Given the description of an element on the screen output the (x, y) to click on. 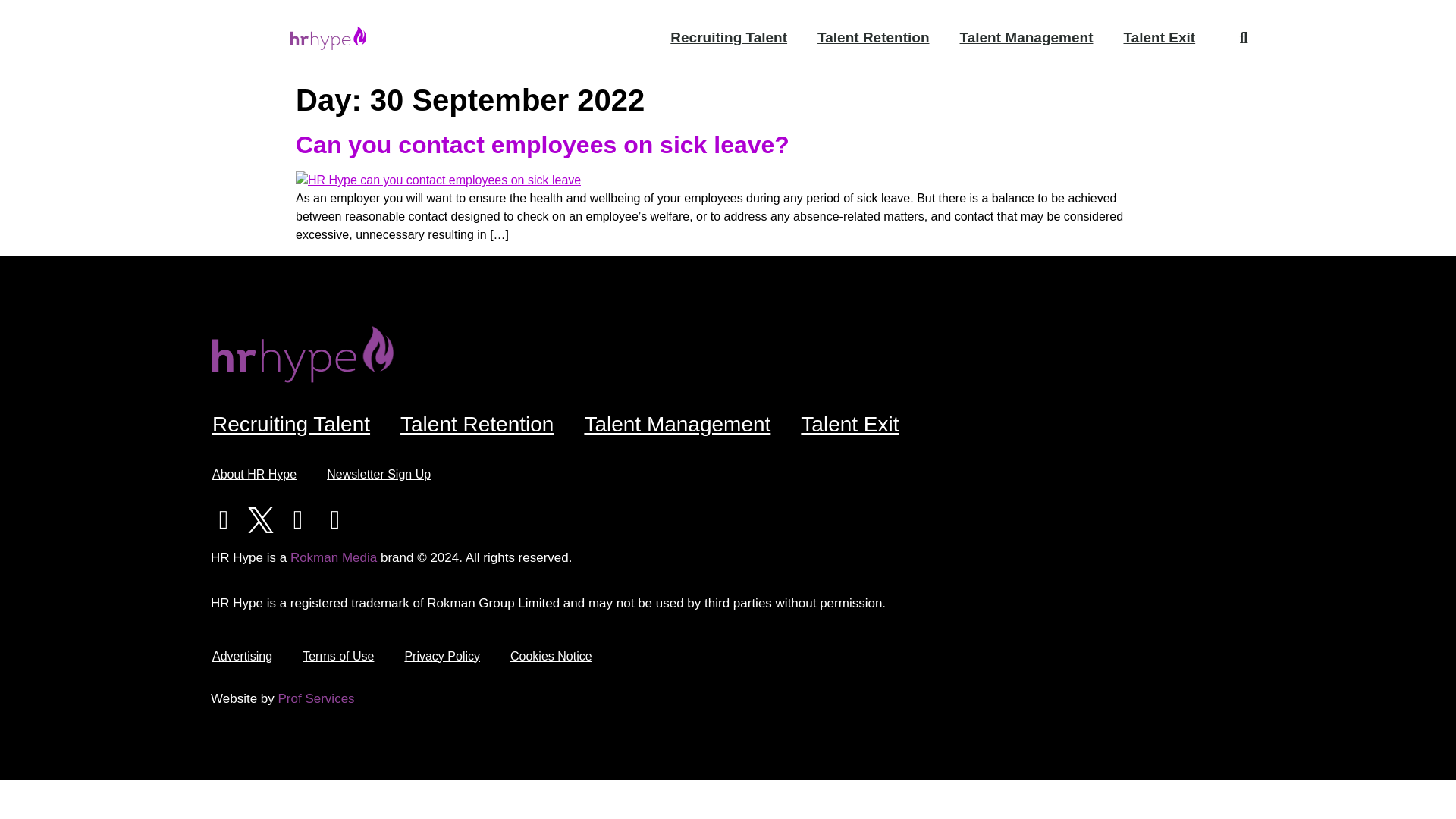
Advertising (241, 656)
About HR Hype (253, 474)
Talent Retention (477, 424)
Rokman Media (333, 557)
Talent Exit (1158, 38)
Recruiting Talent (728, 38)
Cookies Notice (551, 656)
Talent Exit (850, 424)
Recruiting Talent (290, 424)
Newsletter Sign Up (378, 474)
Talent Management (1026, 38)
Privacy Policy (441, 656)
Terms of Use (337, 656)
Talent Management (677, 424)
Can you contact employees on sick leave? (542, 144)
